Given the description of an element on the screen output the (x, y) to click on. 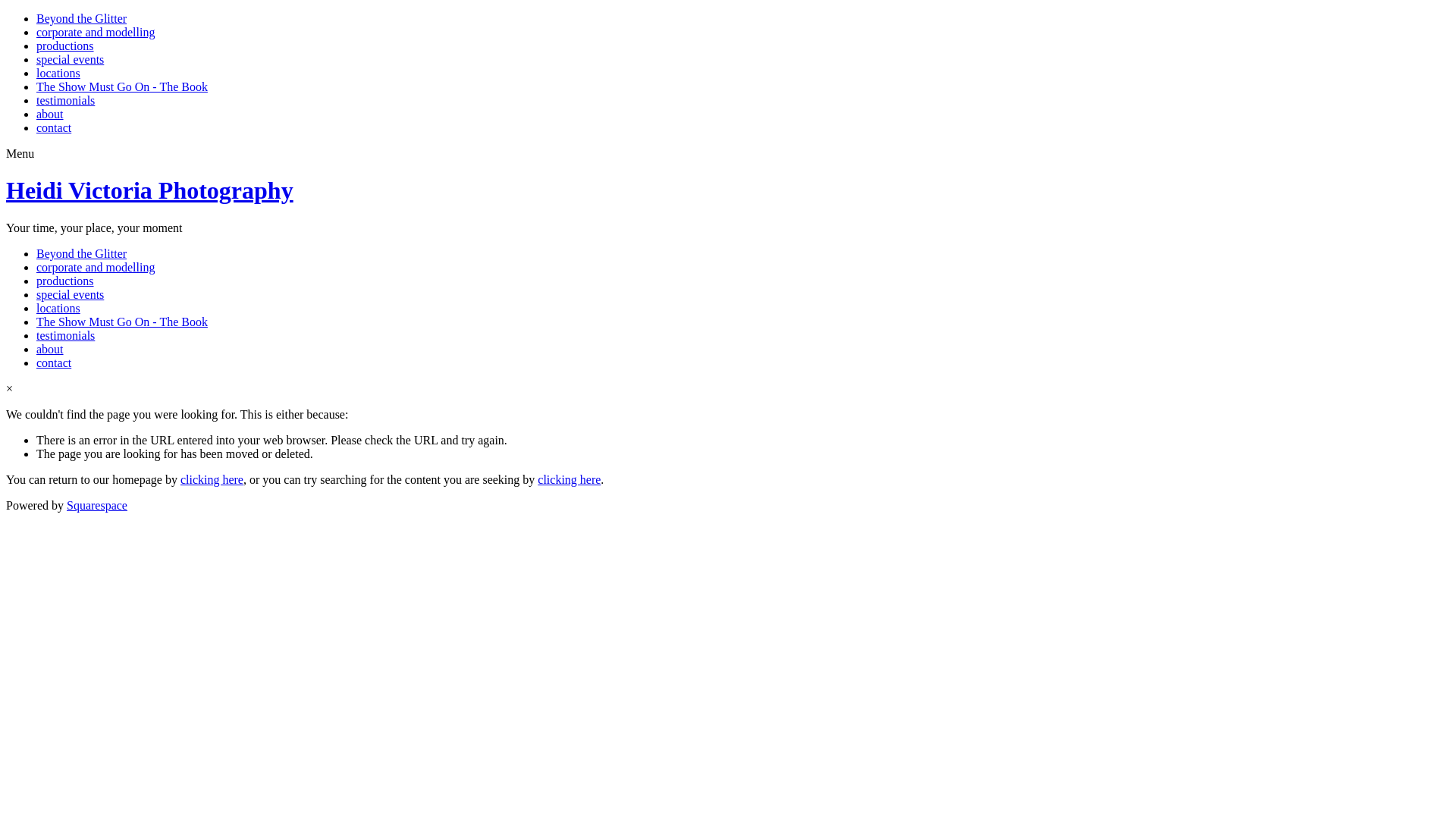
The Show Must Go On - The Book Element type: text (121, 86)
productions Element type: text (65, 45)
clicking here Element type: text (211, 479)
Squarespace Element type: text (96, 504)
corporate and modelling Element type: text (95, 31)
Beyond the Glitter Element type: text (81, 253)
Menu Element type: text (20, 153)
special events Element type: text (69, 59)
clicking here Element type: text (568, 479)
The Show Must Go On - The Book Element type: text (121, 321)
locations Element type: text (58, 307)
about Element type: text (49, 113)
Beyond the Glitter Element type: text (81, 18)
Heidi Victoria Photography Element type: text (149, 189)
corporate and modelling Element type: text (95, 266)
testimonials Element type: text (65, 335)
contact Element type: text (53, 127)
contact Element type: text (53, 362)
about Element type: text (49, 348)
testimonials Element type: text (65, 100)
locations Element type: text (58, 72)
productions Element type: text (65, 280)
special events Element type: text (69, 294)
